Given the description of an element on the screen output the (x, y) to click on. 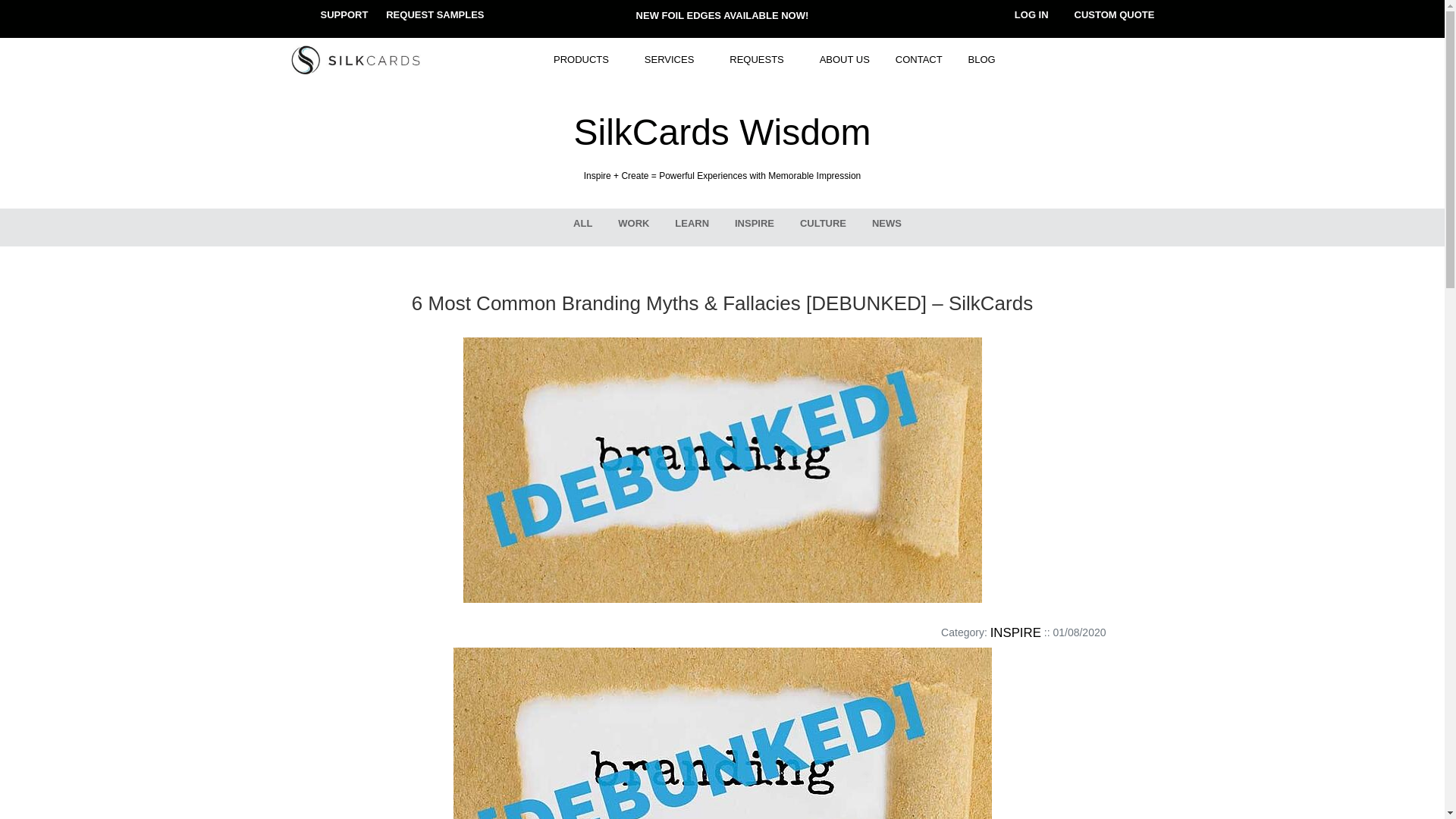
SERVICES (674, 60)
ABOUT US (844, 60)
CONTACT (918, 60)
CUSTOM QUOTE (1114, 14)
REQUEST SAMPLES (434, 14)
LOG IN (1031, 14)
SUPPORT (344, 14)
PRODUCTS (585, 60)
REQUESTS (761, 60)
